Given the description of an element on the screen output the (x, y) to click on. 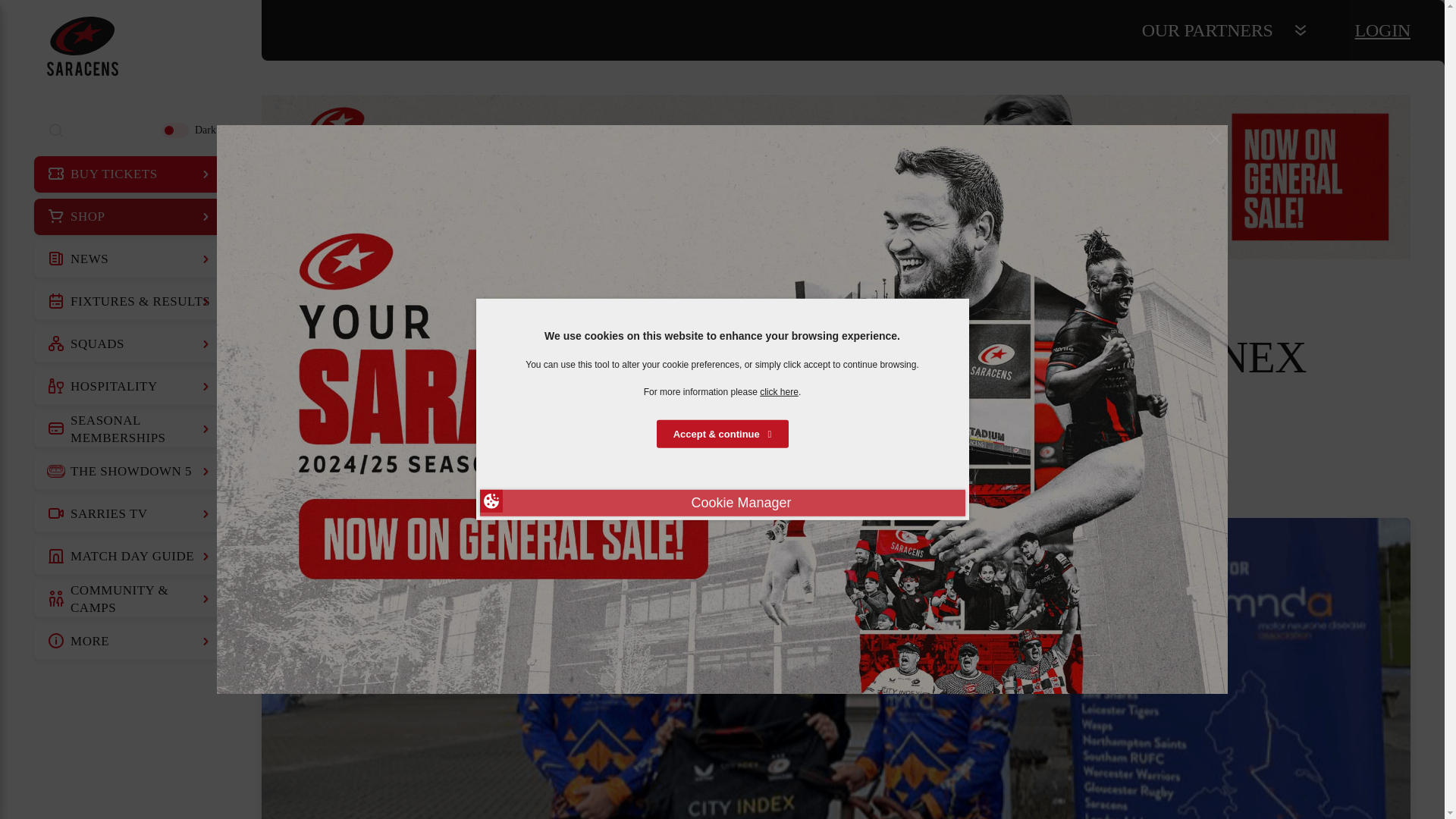
BUY TICKETS (130, 174)
LOGIN (1382, 29)
Search (55, 130)
THE SHOWDOWN 5 (130, 471)
SEASONAL MEMBERSHIPS (130, 429)
HOSPITALITY (130, 386)
SQUADS (130, 343)
MORE (130, 641)
MATCH DAY GUIDE (130, 556)
SHOP (130, 217)
NEWS (130, 258)
Cookie Manager (721, 502)
SARRIES TV (130, 514)
